Given the description of an element on the screen output the (x, y) to click on. 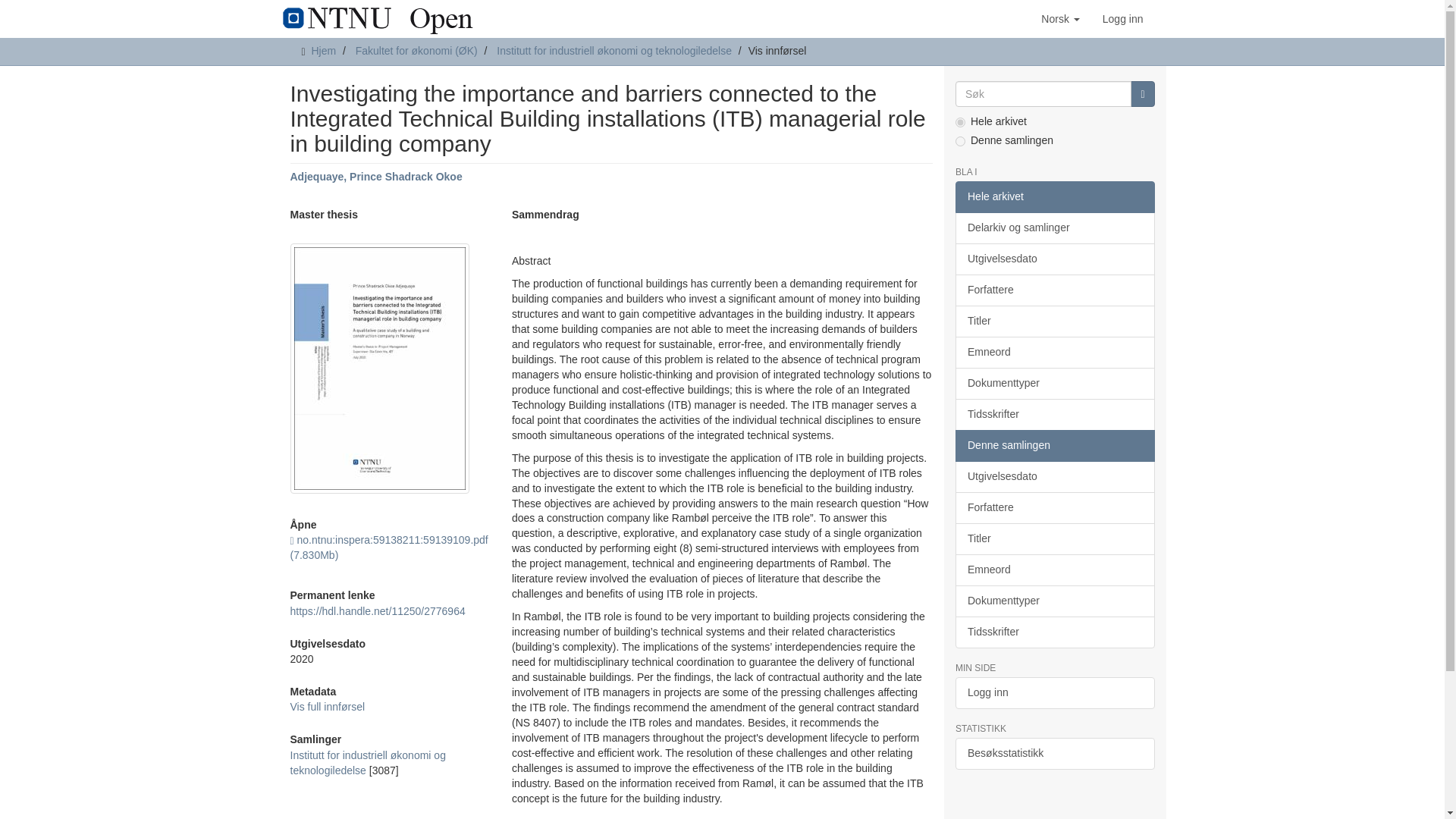
Delarkiv og samlinger (1054, 228)
Utgivelsesdato (1054, 259)
Hele arkivet (1054, 196)
Emneord (1054, 352)
Forfattere (1054, 290)
Titler (1054, 321)
Norsk  (1059, 18)
Logg inn (1122, 18)
Tidsskrifter (1054, 414)
Hjem (323, 50)
Adjequaye, Prince Shadrack Okoe (375, 176)
Dokumenttyper (1054, 383)
